Given the description of an element on the screen output the (x, y) to click on. 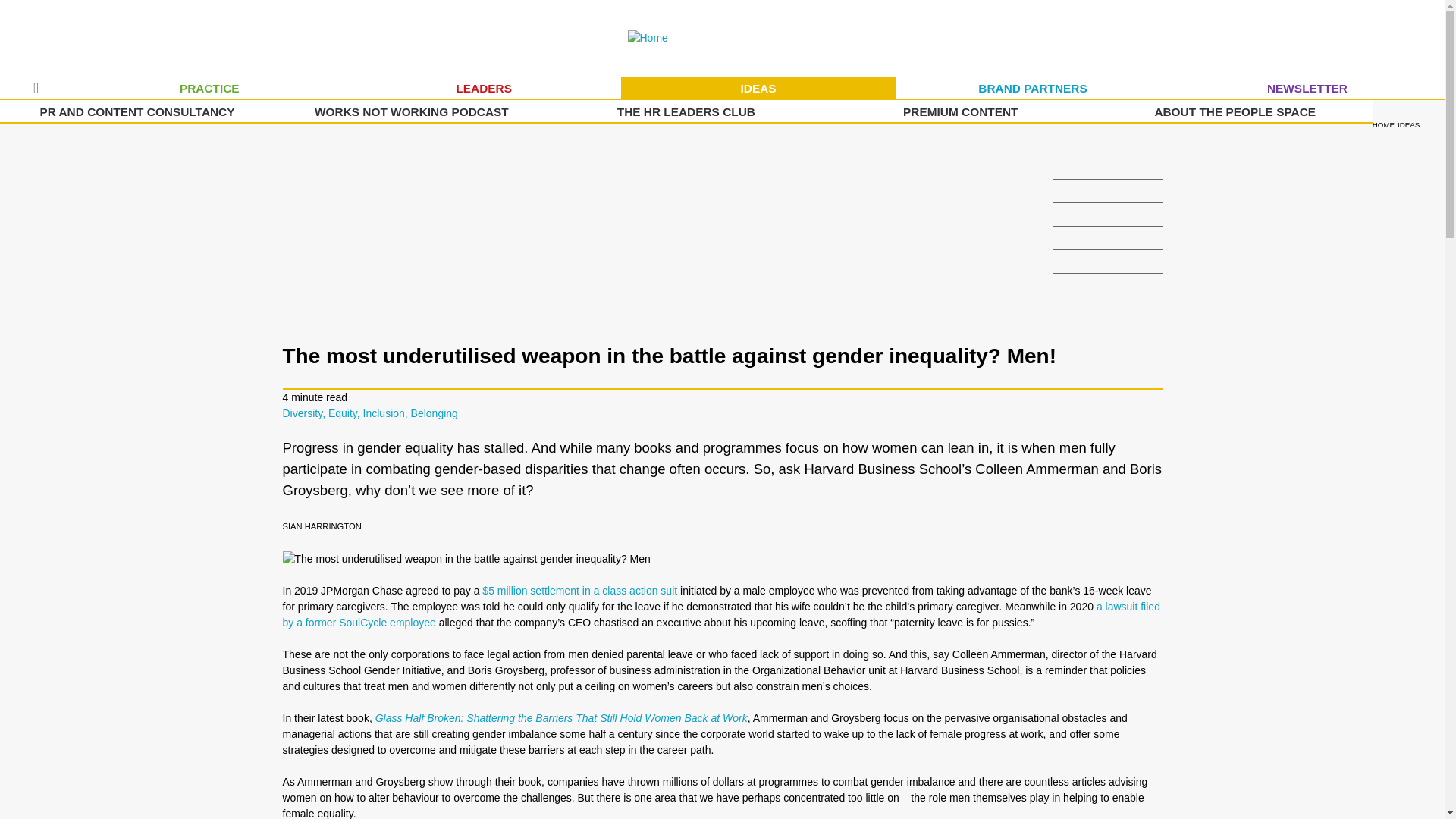
PREMIUM CONTENT (960, 111)
THE HR LEADERS CLUB (686, 111)
IDEAS (758, 87)
HOME (35, 87)
Diversity, Equity, Inclusion, Belonging (369, 413)
PR AND CONTENT CONSULTANCY (137, 111)
Find out what we're all about (1235, 111)
PRACTICE (208, 87)
HOME (1383, 124)
